Given the description of an element on the screen output the (x, y) to click on. 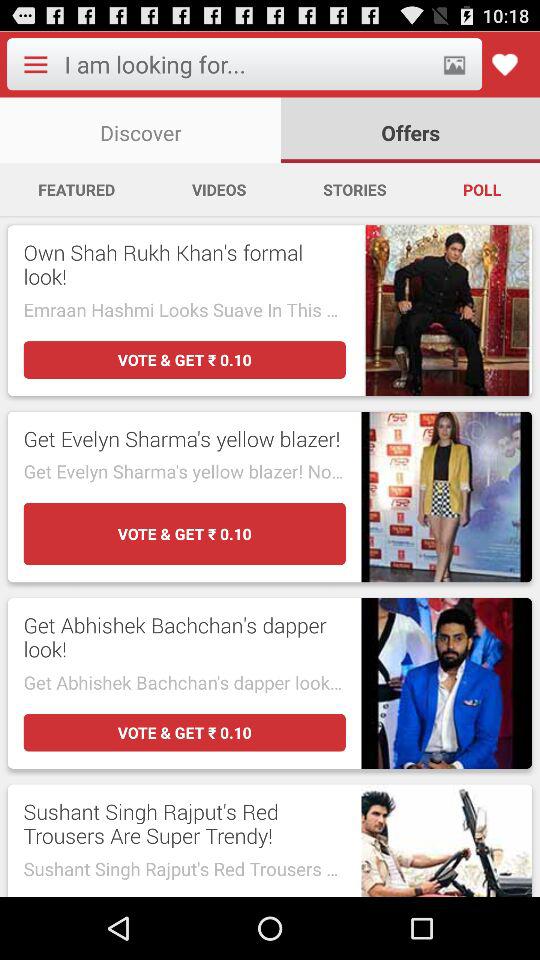
type to search (246, 64)
